Given the description of an element on the screen output the (x, y) to click on. 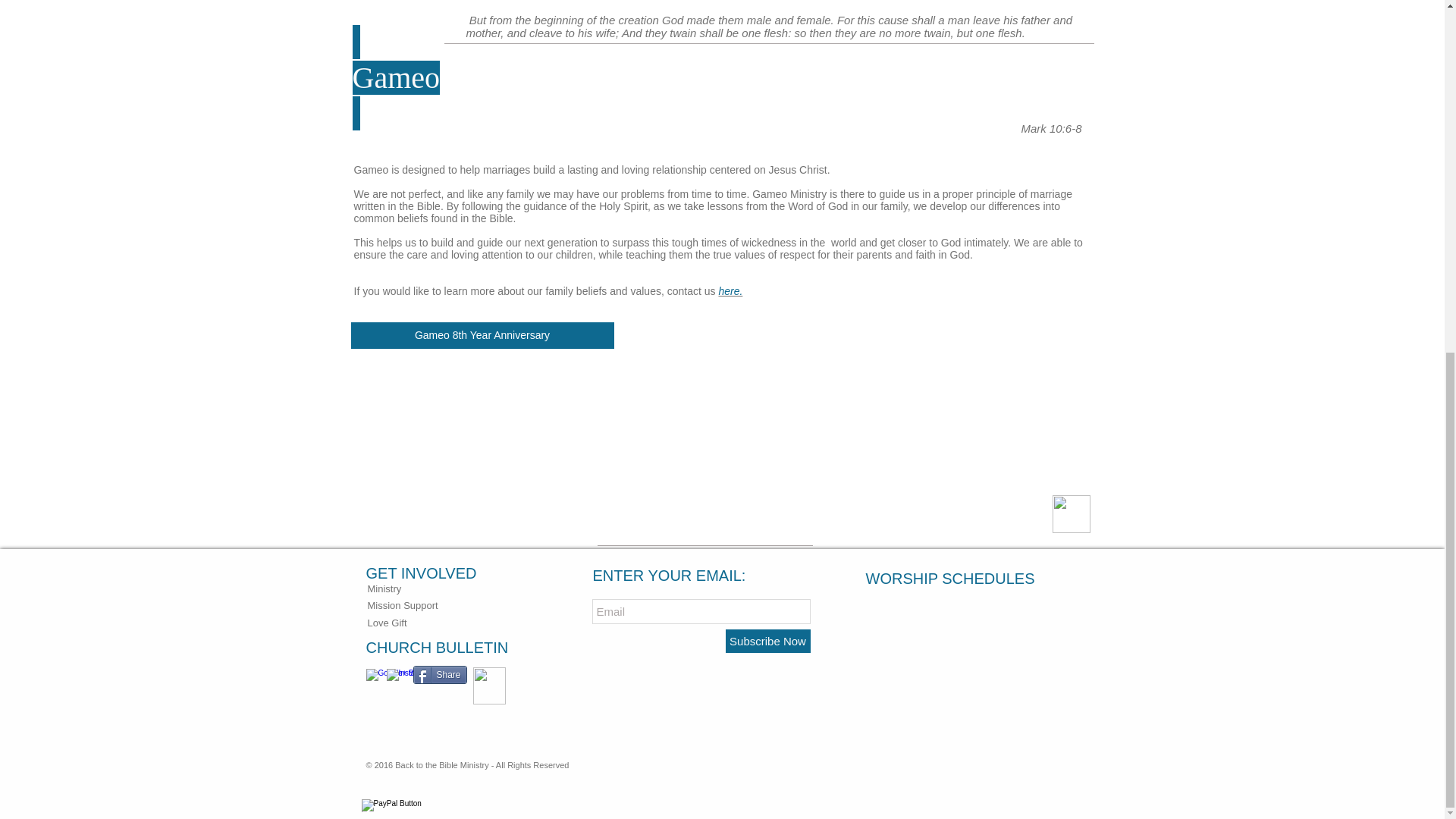
here. (729, 291)
Love Gift (386, 622)
Subscribe Now (767, 640)
Share (438, 674)
Share (438, 674)
Mission Support (402, 604)
Ministry (383, 588)
External YouTube (481, 435)
WORSHIP SCHEDULES (966, 578)
Gameo 8th Year Anniversary (481, 335)
